Given the description of an element on the screen output the (x, y) to click on. 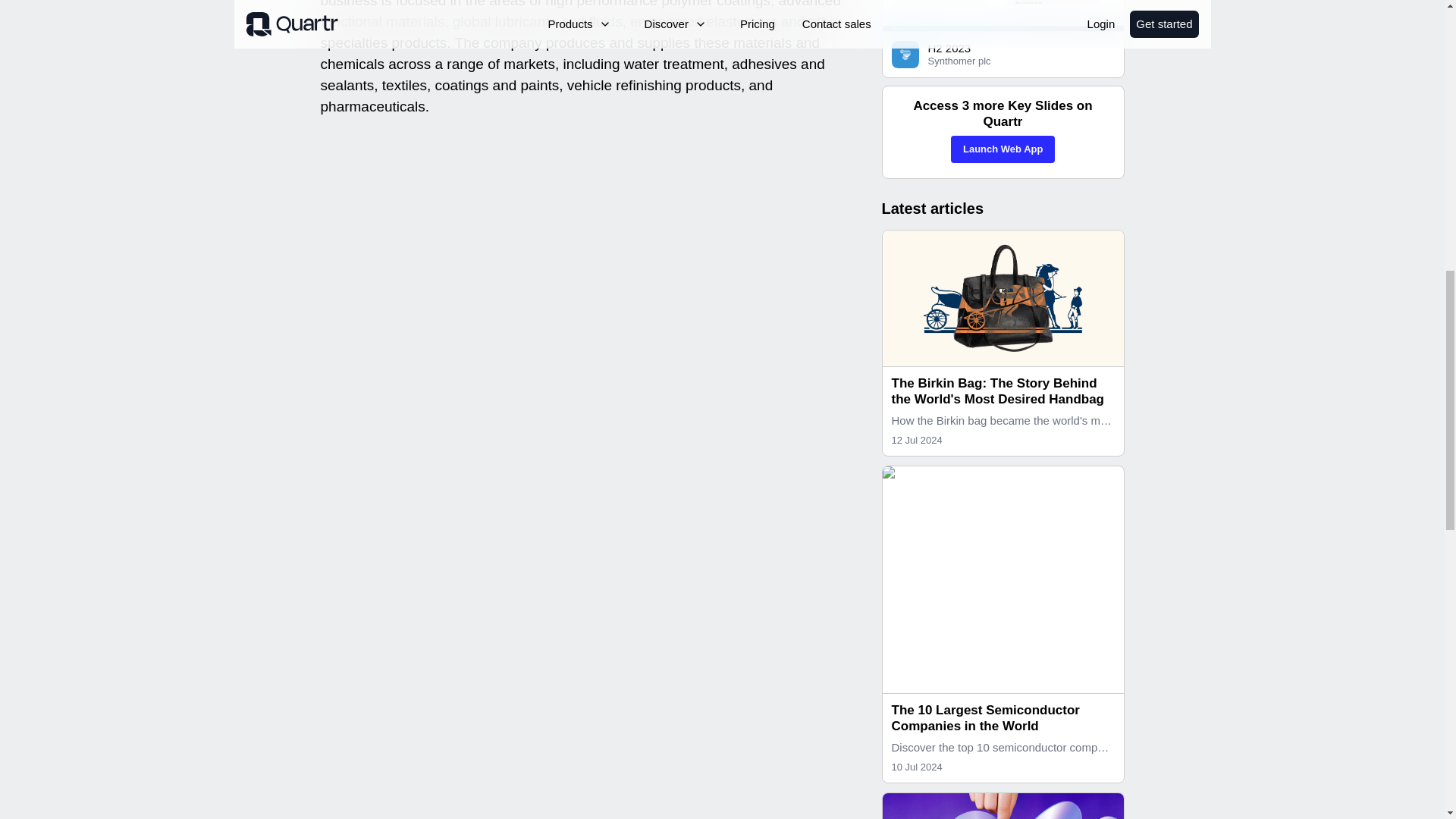
Launch Web App (1002, 148)
